Given the description of an element on the screen output the (x, y) to click on. 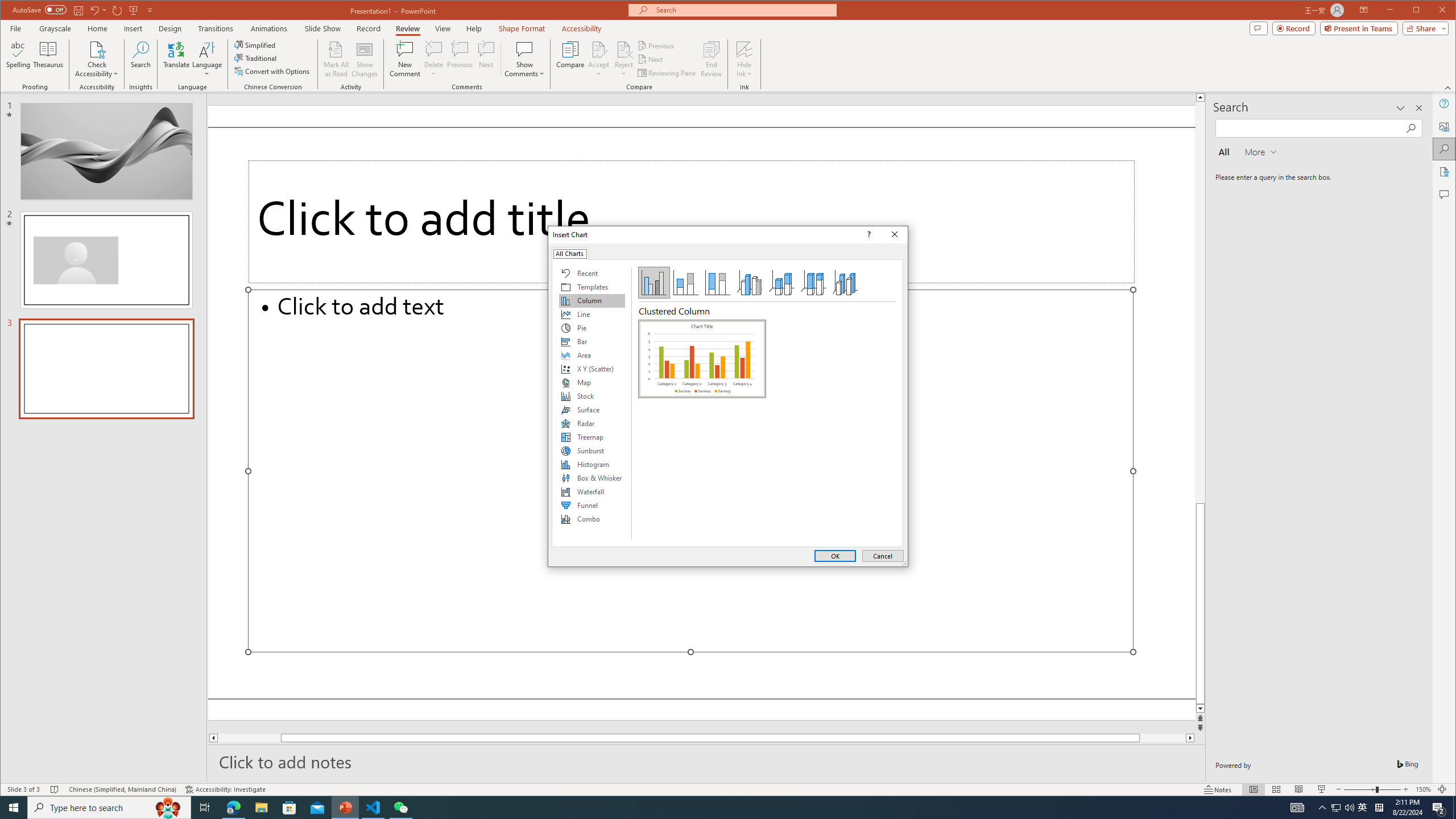
Compare (569, 59)
Area (591, 354)
Sunburst (591, 450)
Accept (598, 59)
